Given the description of an element on the screen output the (x, y) to click on. 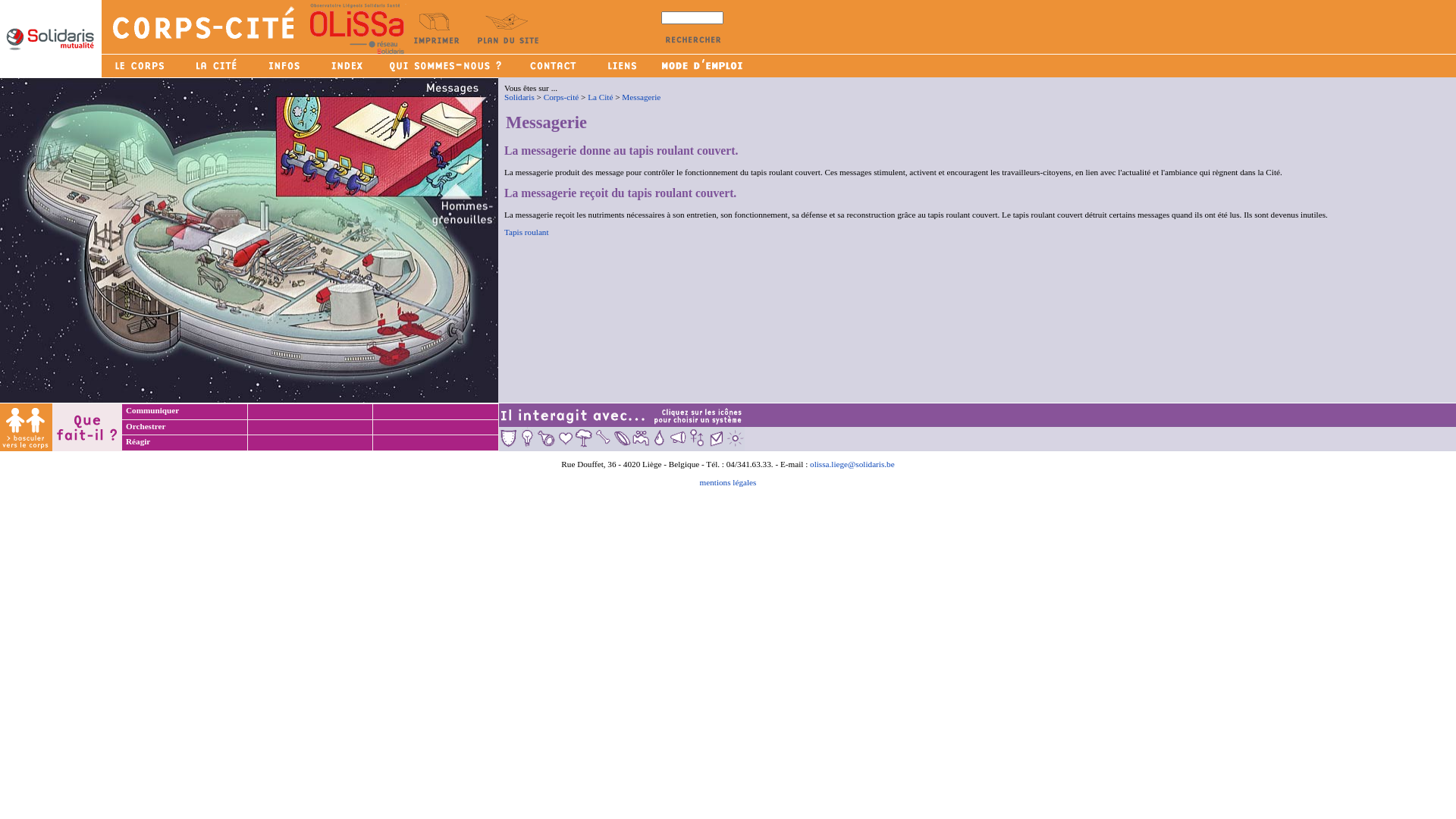
olissa.liege@solidaris.be Element type: text (851, 463)
  Element type: text (252, 425)
Tapis roulant Element type: text (526, 231)
Messagerie Element type: text (640, 96)
Messagerie Element type: text (973, 122)
Solidaris Element type: text (519, 96)
Orchestrer   Element type: text (147, 425)
Communiquer   Element type: text (154, 409)
